Given the description of an element on the screen output the (x, y) to click on. 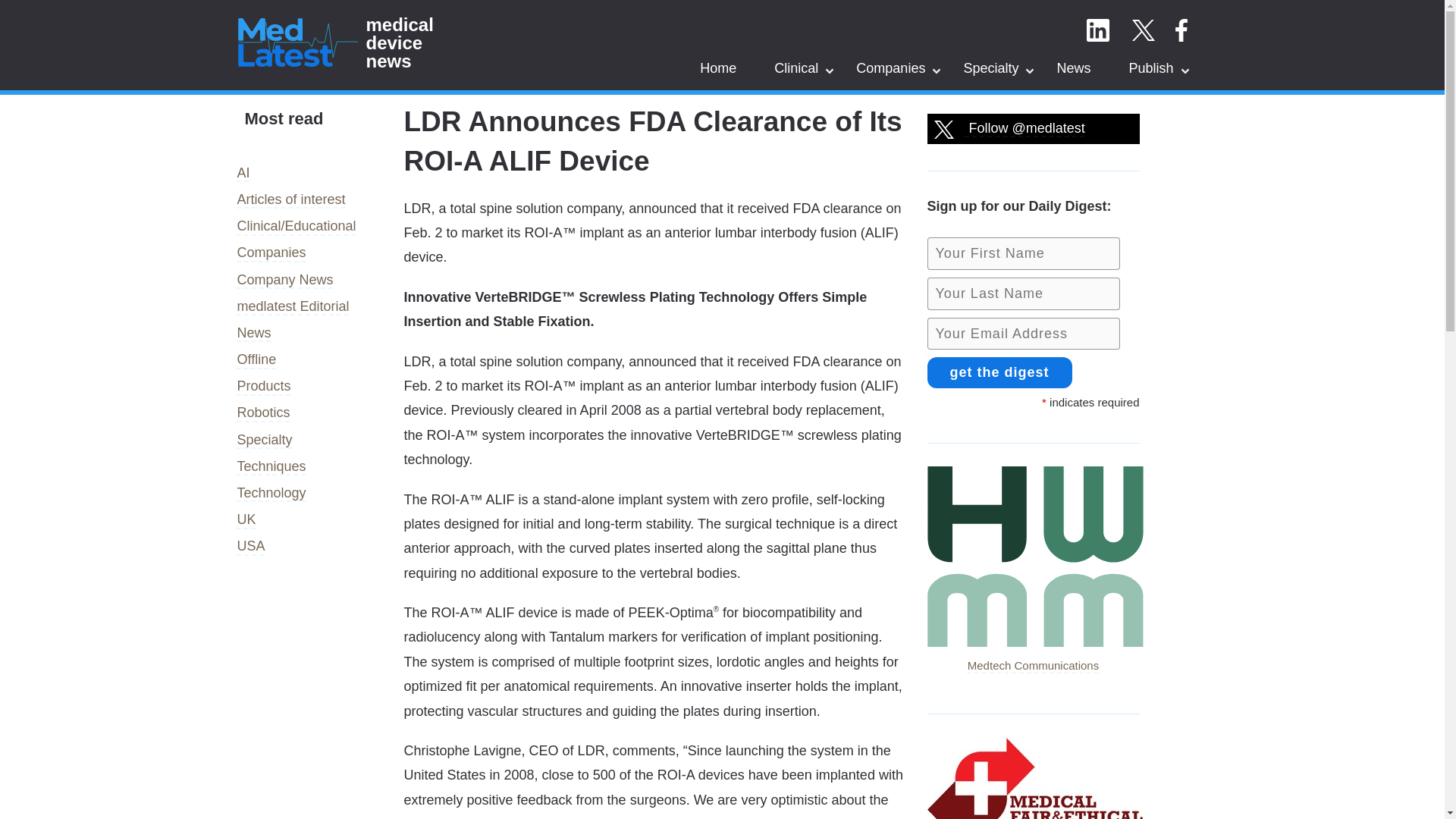
Medlatest - On LinkedIn (1097, 30)
get the digest (998, 372)
Medlatest - On X (1142, 30)
Clinical (796, 67)
Companies (890, 67)
Home (718, 67)
Specialty (989, 67)
Home (718, 67)
Publish (1150, 67)
Medtech Communications (1034, 654)
